Given the description of an element on the screen output the (x, y) to click on. 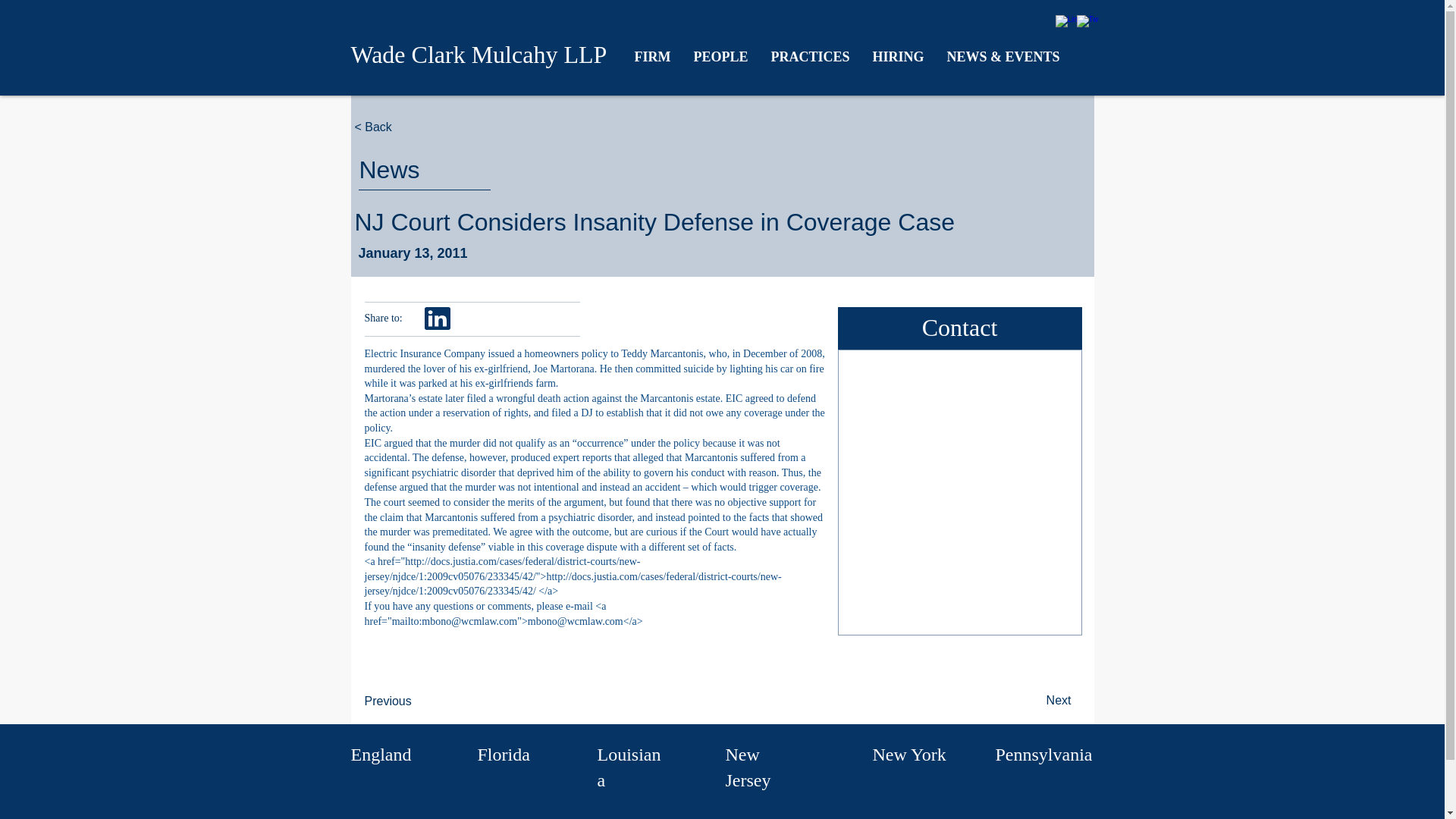
New York (908, 754)
Pennsylvania (1043, 754)
Florida (503, 754)
Previous (414, 701)
New Jersey (747, 767)
HIRING (898, 56)
FIRM (652, 56)
Next (1032, 700)
PRACTICES (810, 56)
PEOPLE (721, 56)
England (380, 754)
Wade Clark Mulcahy LLP (478, 53)
